Given the description of an element on the screen output the (x, y) to click on. 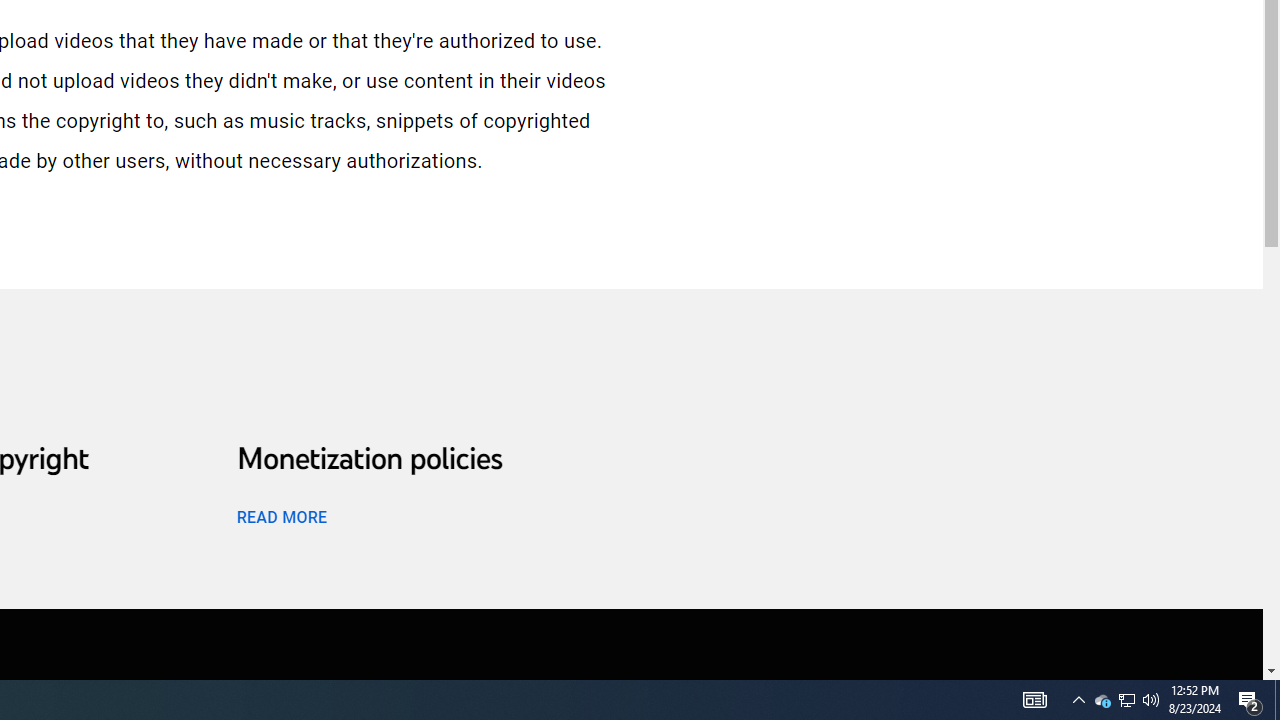
READ MORE (281, 516)
